Given the description of an element on the screen output the (x, y) to click on. 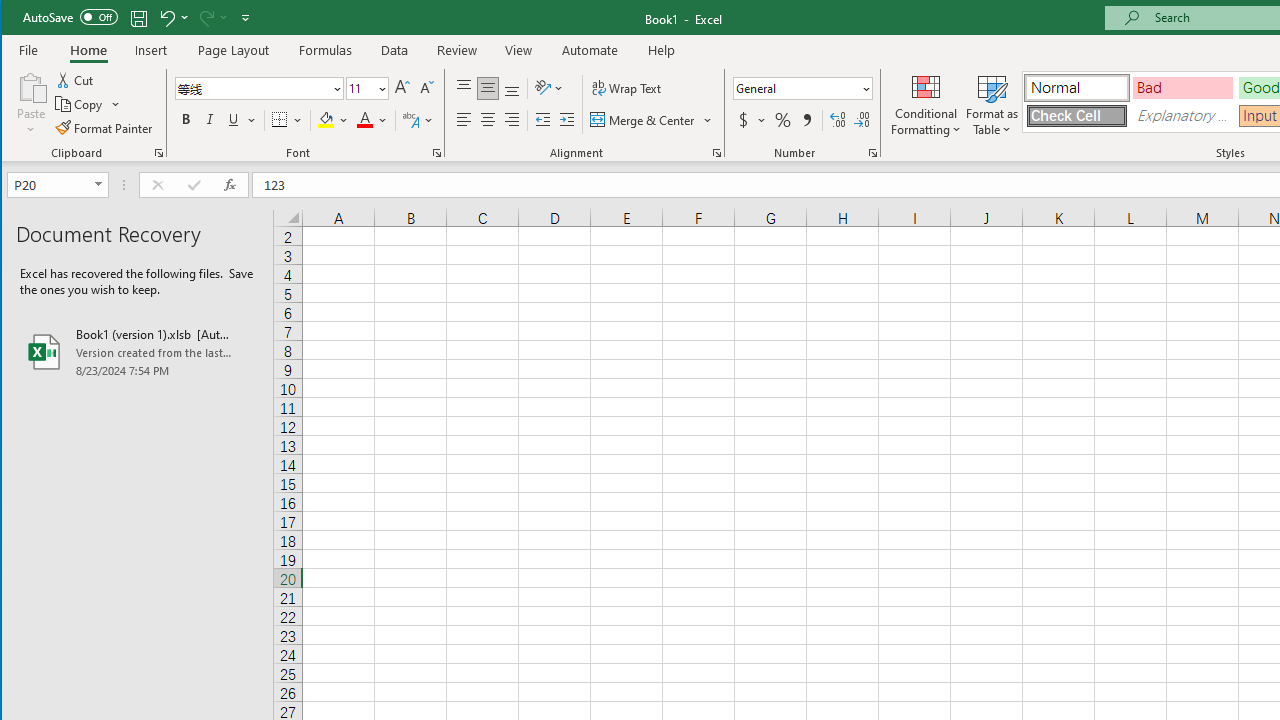
Font Size (367, 88)
Font (259, 88)
Format Cell Alignment (716, 152)
Office Clipboard... (158, 152)
Cut (75, 80)
Comma Style (806, 119)
